Given the description of an element on the screen output the (x, y) to click on. 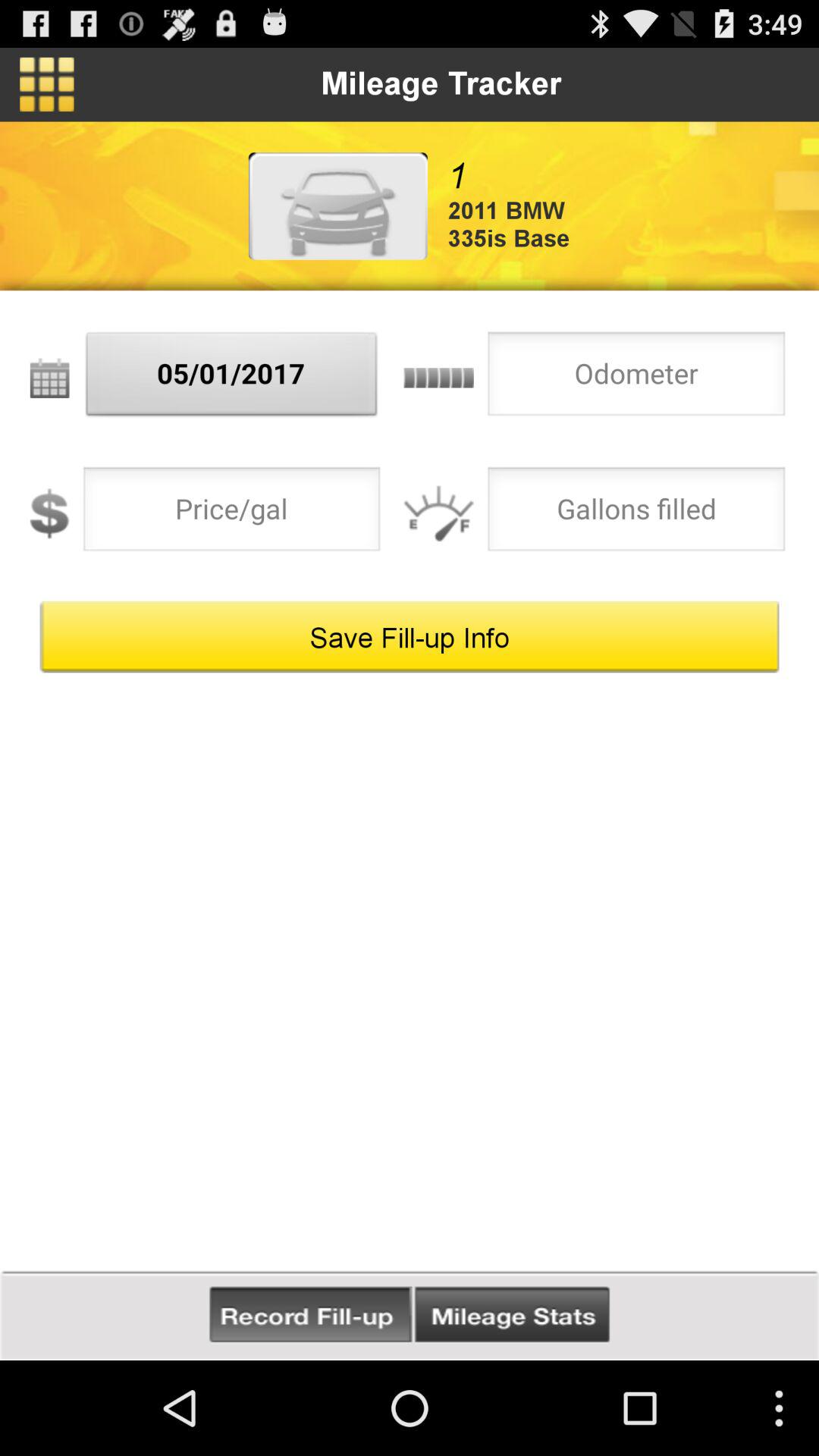
store data (310, 1315)
